Given the description of an element on the screen output the (x, y) to click on. 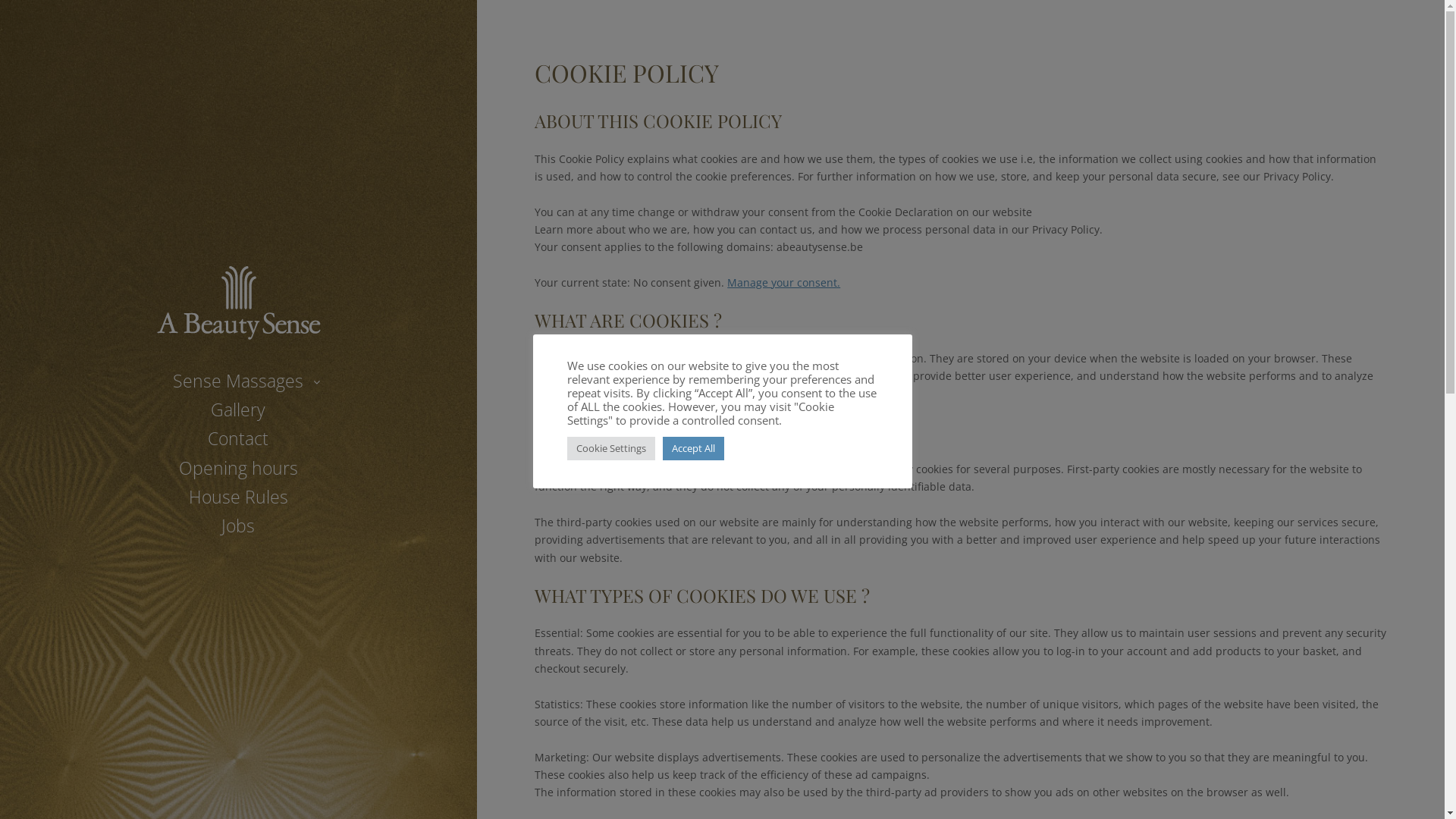
Manage your consent. Element type: text (783, 282)
House Rules Element type: text (238, 496)
Sense Massages Element type: text (237, 380)
Jobs Element type: text (237, 525)
Cookie Settings Element type: text (611, 448)
Opening hours Element type: text (238, 466)
Gallery Element type: text (237, 409)
Accept All Element type: text (693, 448)
Contact Element type: text (237, 438)
